Given the description of an element on the screen output the (x, y) to click on. 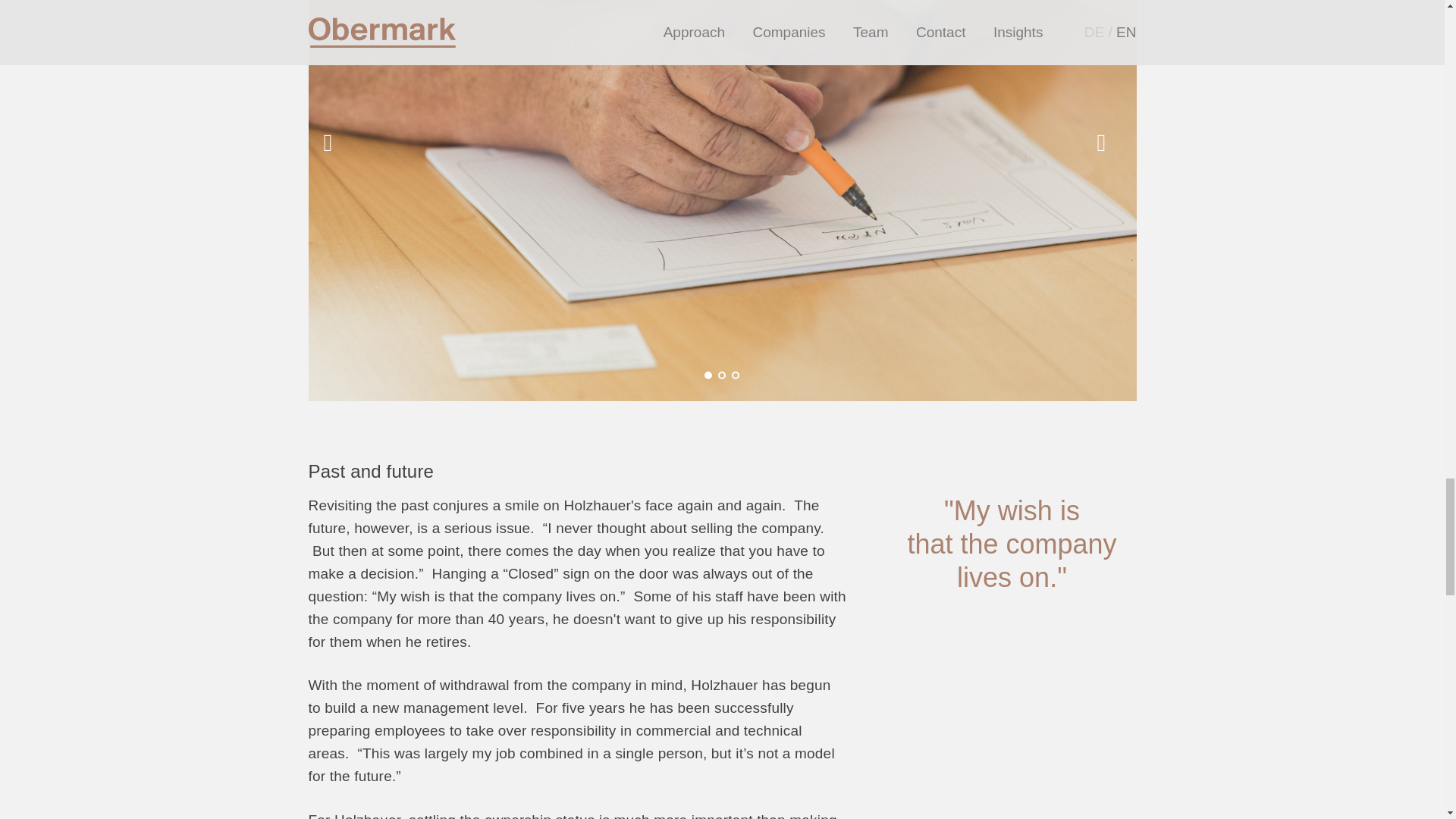
3 (734, 375)
2 (721, 375)
1 (708, 375)
